Given the description of an element on the screen output the (x, y) to click on. 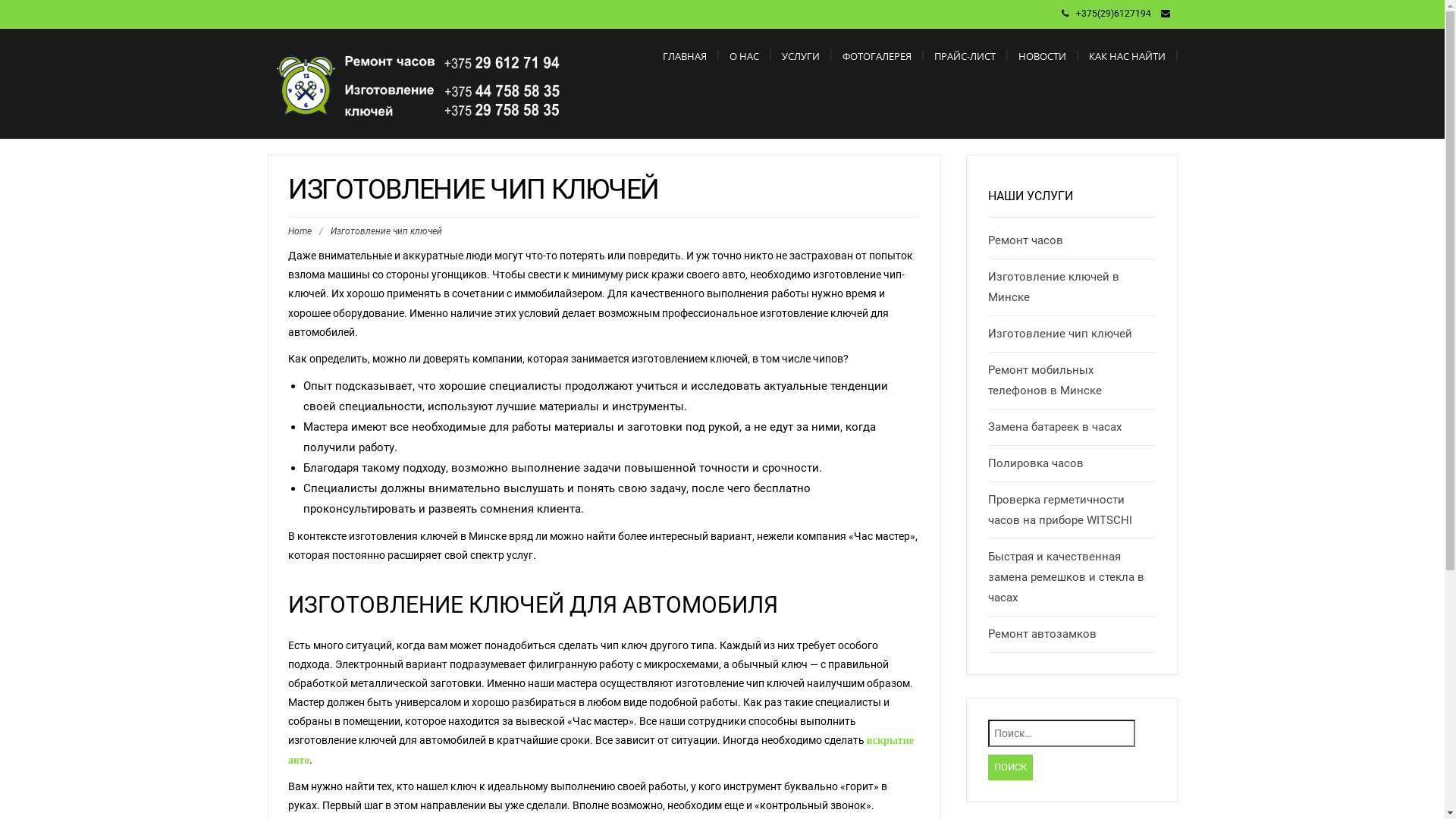
Home Element type: text (299, 230)
